Given the description of an element on the screen output the (x, y) to click on. 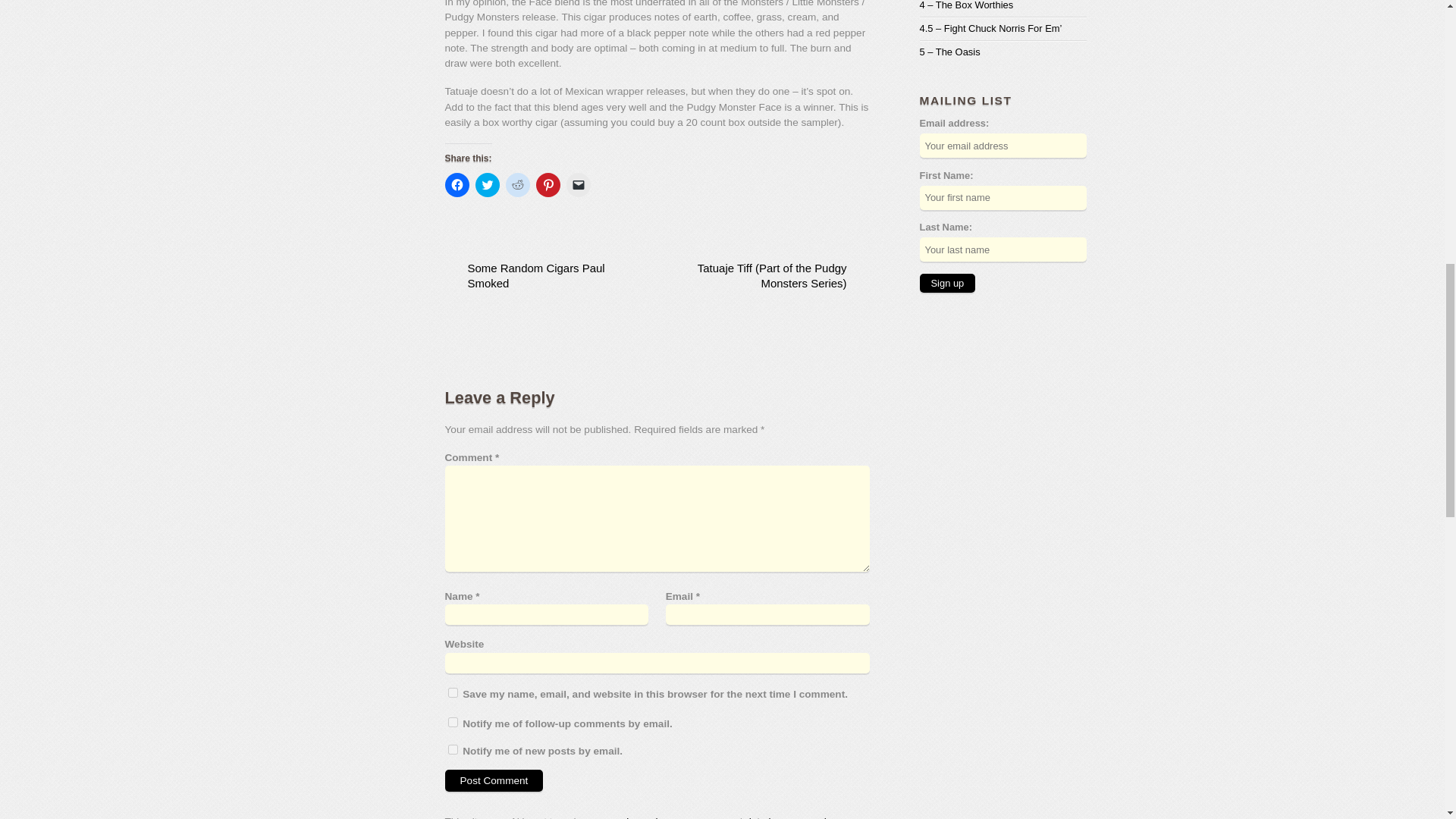
Some Random Cigars Paul Smoked (539, 276)
Post Comment (493, 780)
Post Comment (493, 780)
Click to share on Pinterest (547, 184)
Learn how your comment data is processed (726, 817)
yes (451, 692)
Click to share on Reddit (517, 184)
subscribe (451, 749)
Click to email a link to a friend (577, 184)
subscribe (451, 722)
Click to share on Twitter (486, 184)
Sign up (946, 282)
Click to share on Facebook (456, 184)
